Given the description of an element on the screen output the (x, y) to click on. 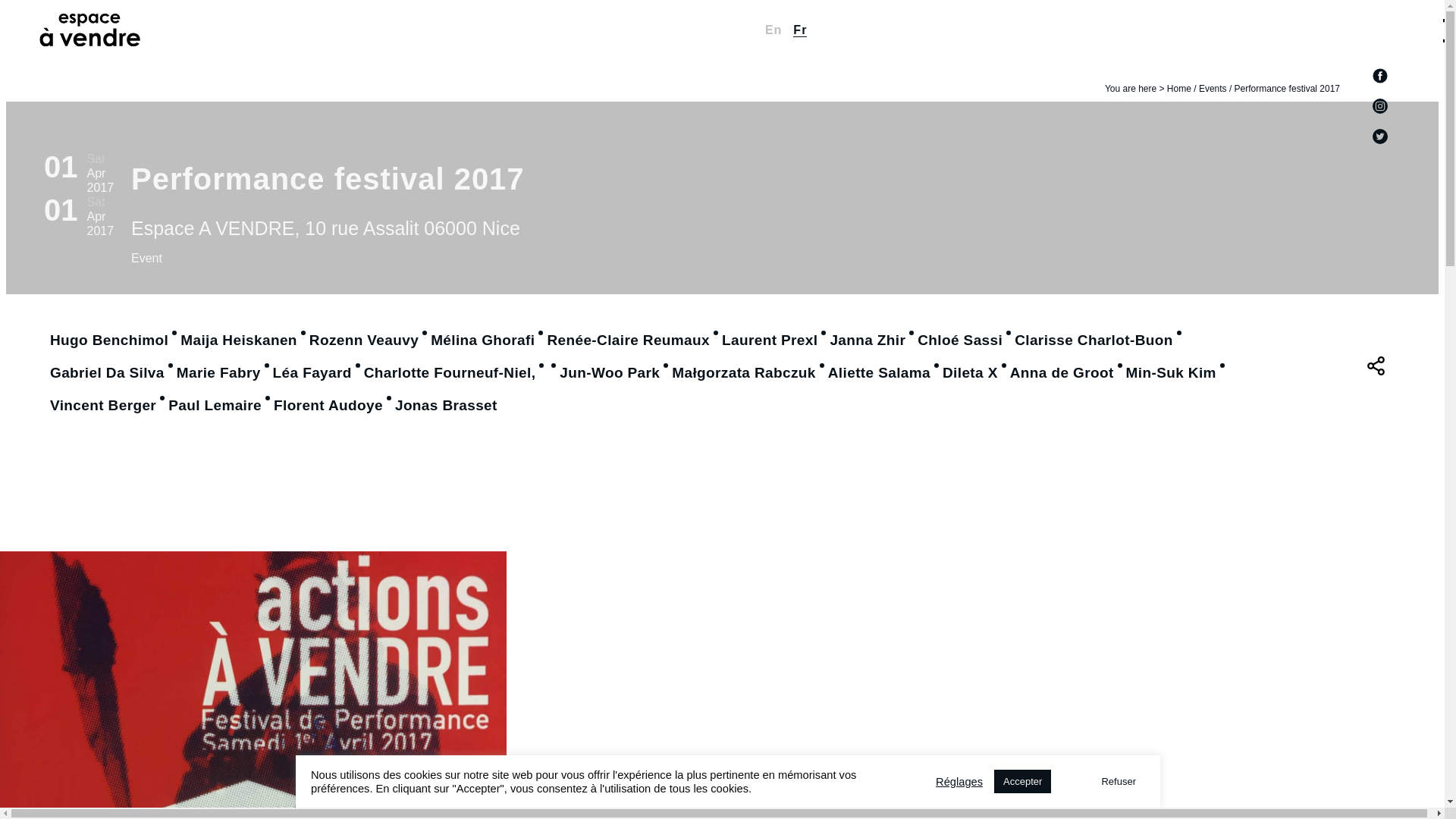
Marie Fabry (218, 372)
Janna Zhir (867, 340)
Laurent Prexl (769, 340)
Share (1376, 365)
Events (1212, 89)
Jun-Woo Park (609, 372)
Aliette Salama (879, 372)
Clarisse Charlot-Buon (1093, 340)
Charlotte Fourneuf-Niel, (449, 372)
Anna de Groot (1061, 372)
Hugo Benchimol (108, 340)
Home (1179, 89)
Laurent Prexl (769, 340)
Fr (799, 29)
Paul Lemaire (215, 405)
